Given the description of an element on the screen output the (x, y) to click on. 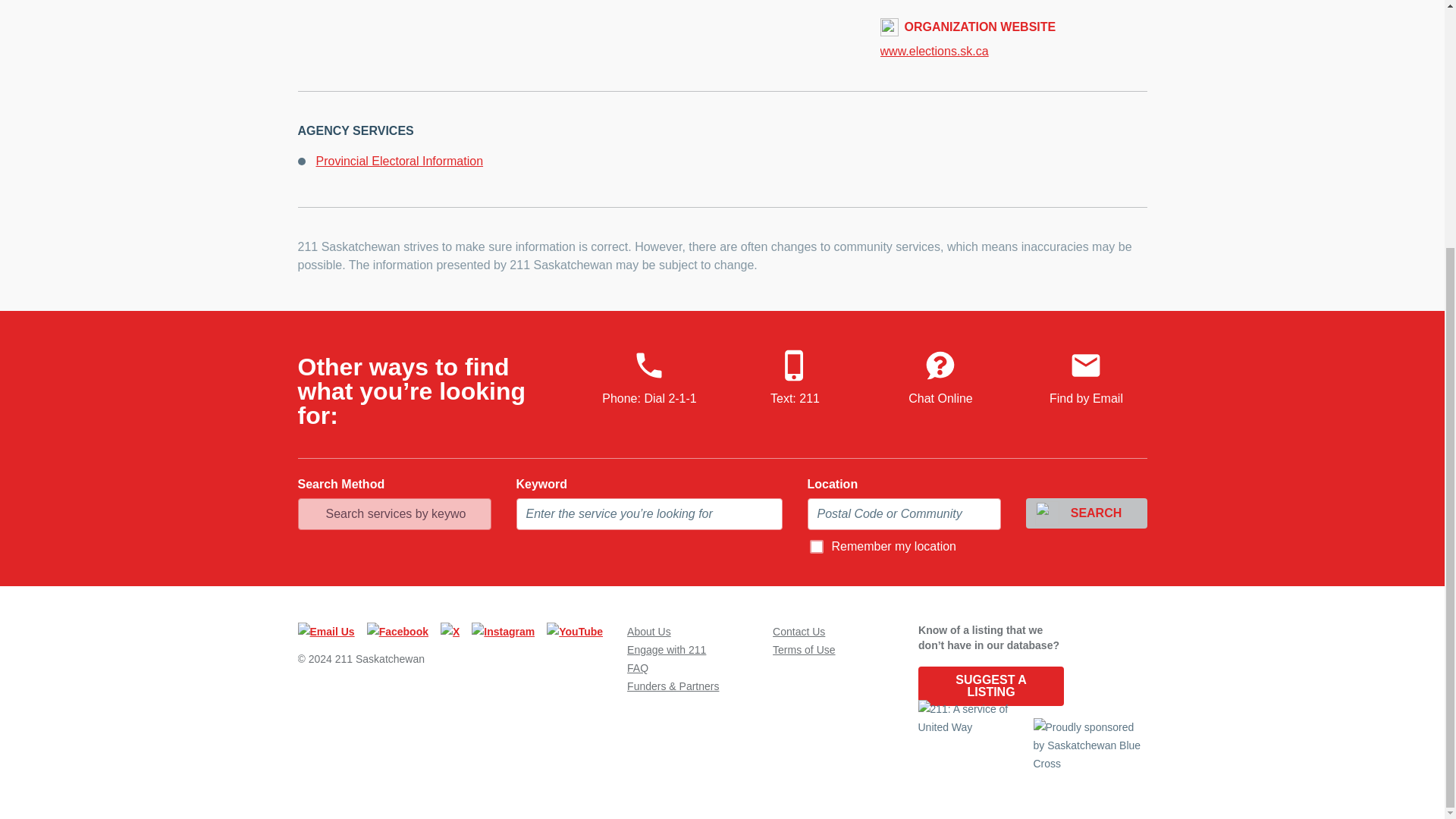
Chat Online (940, 377)
About Us (649, 631)
www.elections.sk.ca (1013, 51)
Contact Us (799, 631)
FAQ (637, 667)
Text: 211 (794, 377)
Engage with 211 (666, 649)
SEARCH (1086, 512)
yes (816, 546)
Provincial Electoral Information (399, 160)
